Given the description of an element on the screen output the (x, y) to click on. 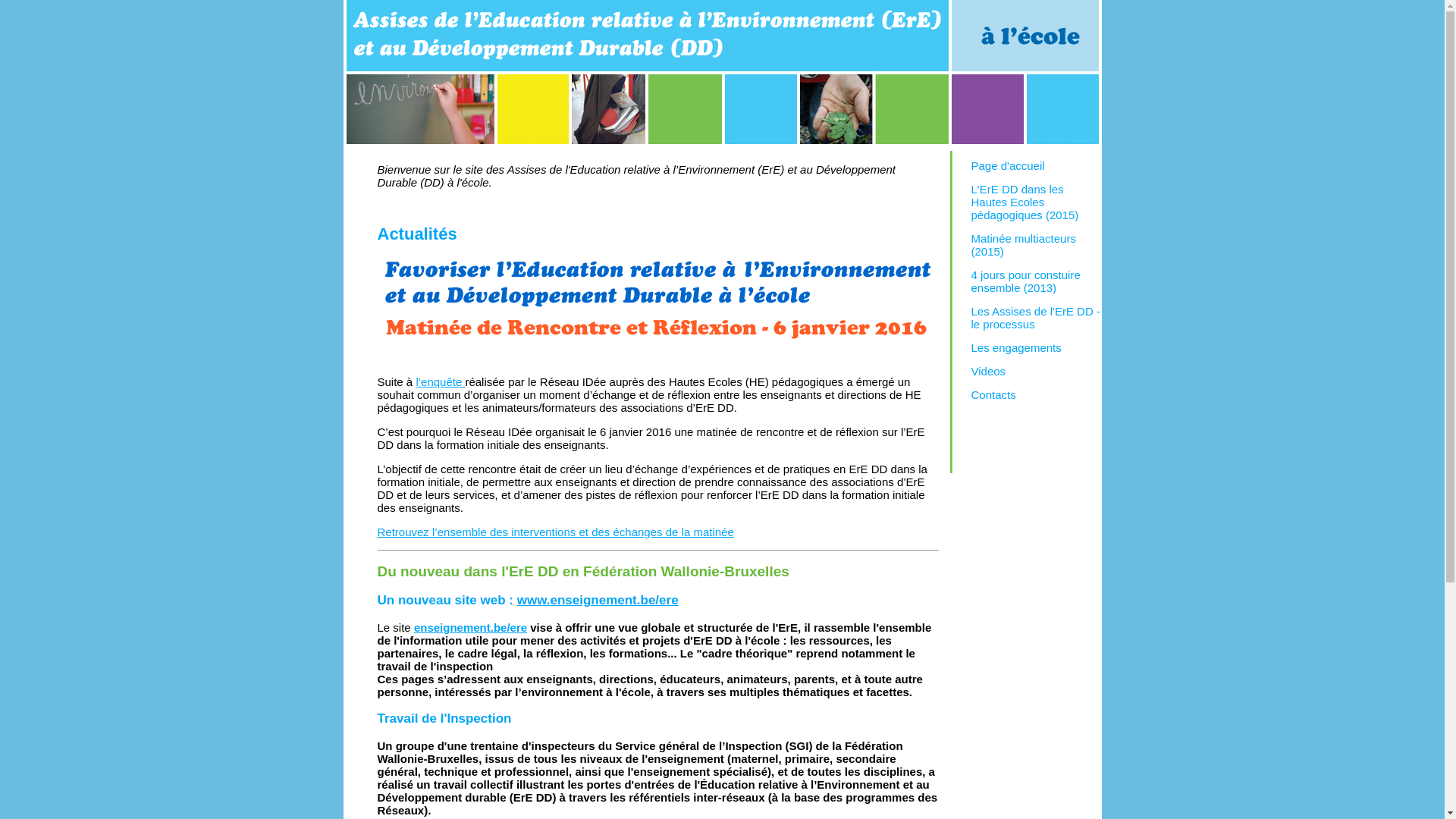
Videos Element type: text (987, 370)
www.enseignement.be/ere Element type: text (597, 600)
Les Assises de l'ErE DD - le processus Element type: text (1034, 317)
enseignement.be/ere Element type: text (470, 627)
4 jours pour constuire ensemble (2013) Element type: text (1024, 281)
Les engagements Element type: text (1015, 347)
Contacts Element type: text (992, 394)
Page d'accueil Element type: text (1007, 165)
